Given the description of an element on the screen output the (x, y) to click on. 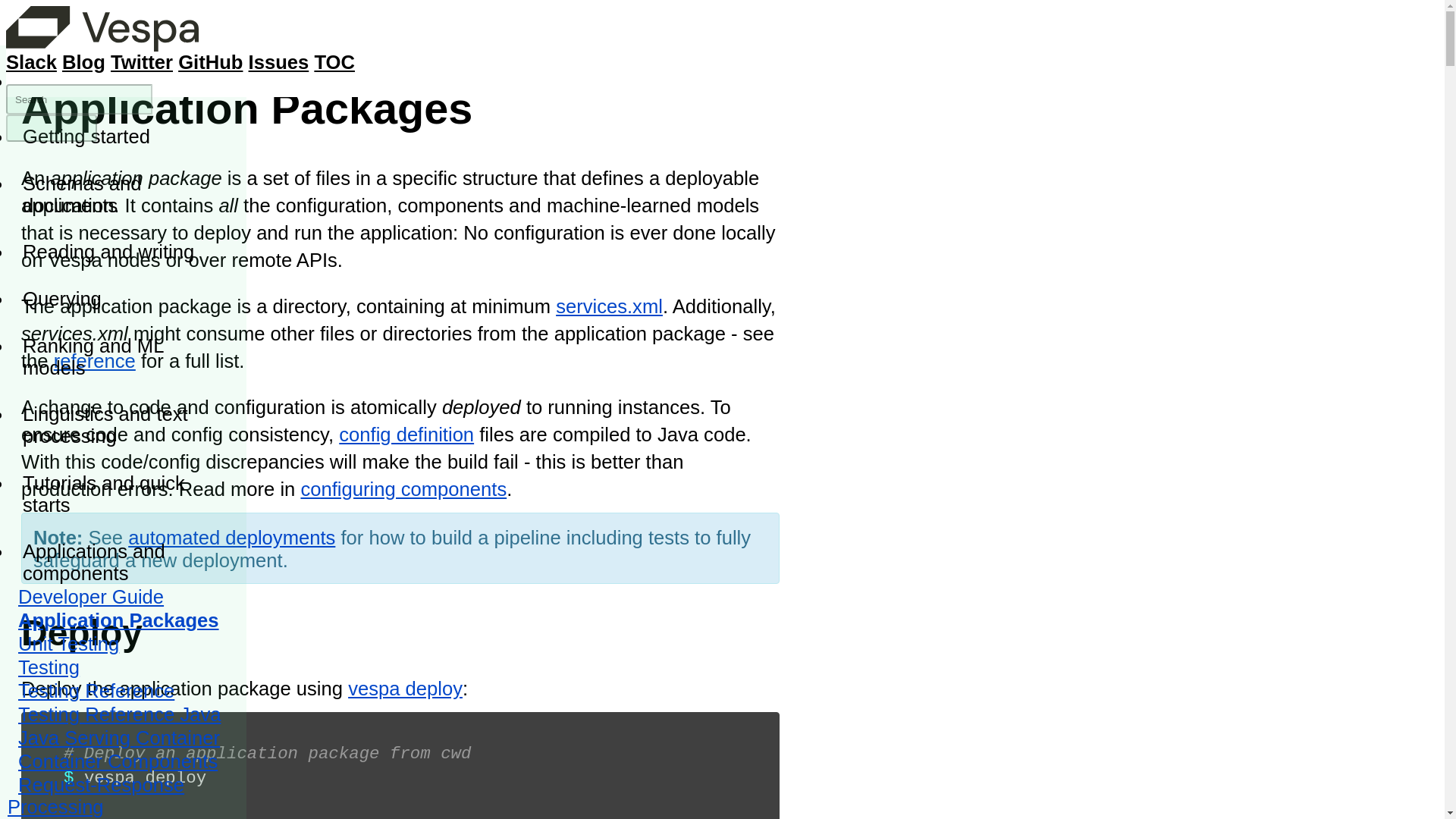
TOC (334, 61)
Issues (278, 61)
GitHub (210, 61)
Blog (83, 61)
Slack (30, 61)
Twitter (141, 61)
